Given the description of an element on the screen output the (x, y) to click on. 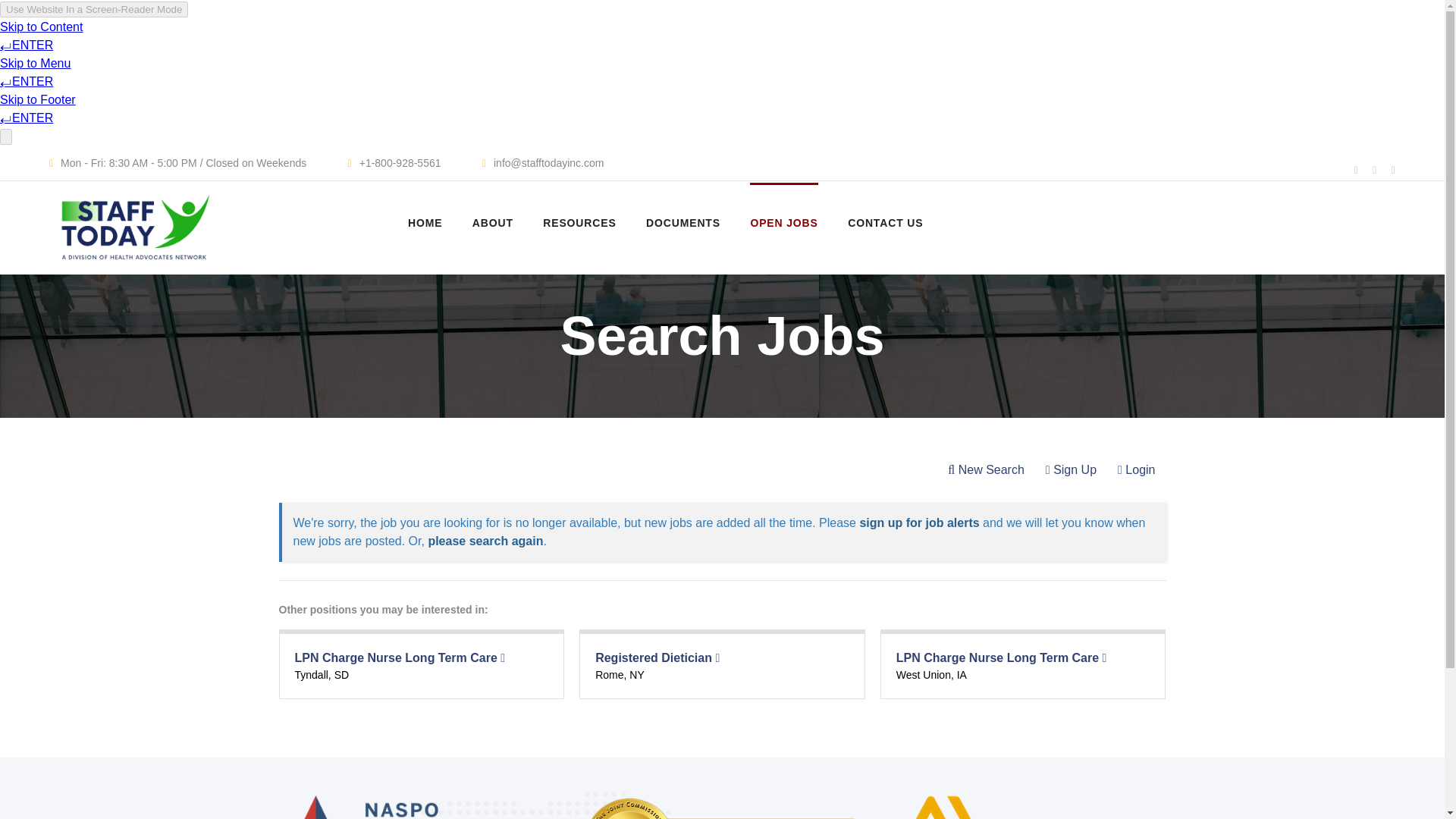
DOCUMENTS (683, 222)
CONTACT US (885, 222)
LPN Charge Nurse Long Term Care (1001, 657)
RESOURCES (579, 222)
New Search (986, 469)
LPN Charge Nurse Long Term Care (399, 657)
sign up for job alerts (918, 522)
Sign Up (1070, 469)
Login (1135, 469)
please search again (485, 540)
Registered Dietician (657, 657)
